Given the description of an element on the screen output the (x, y) to click on. 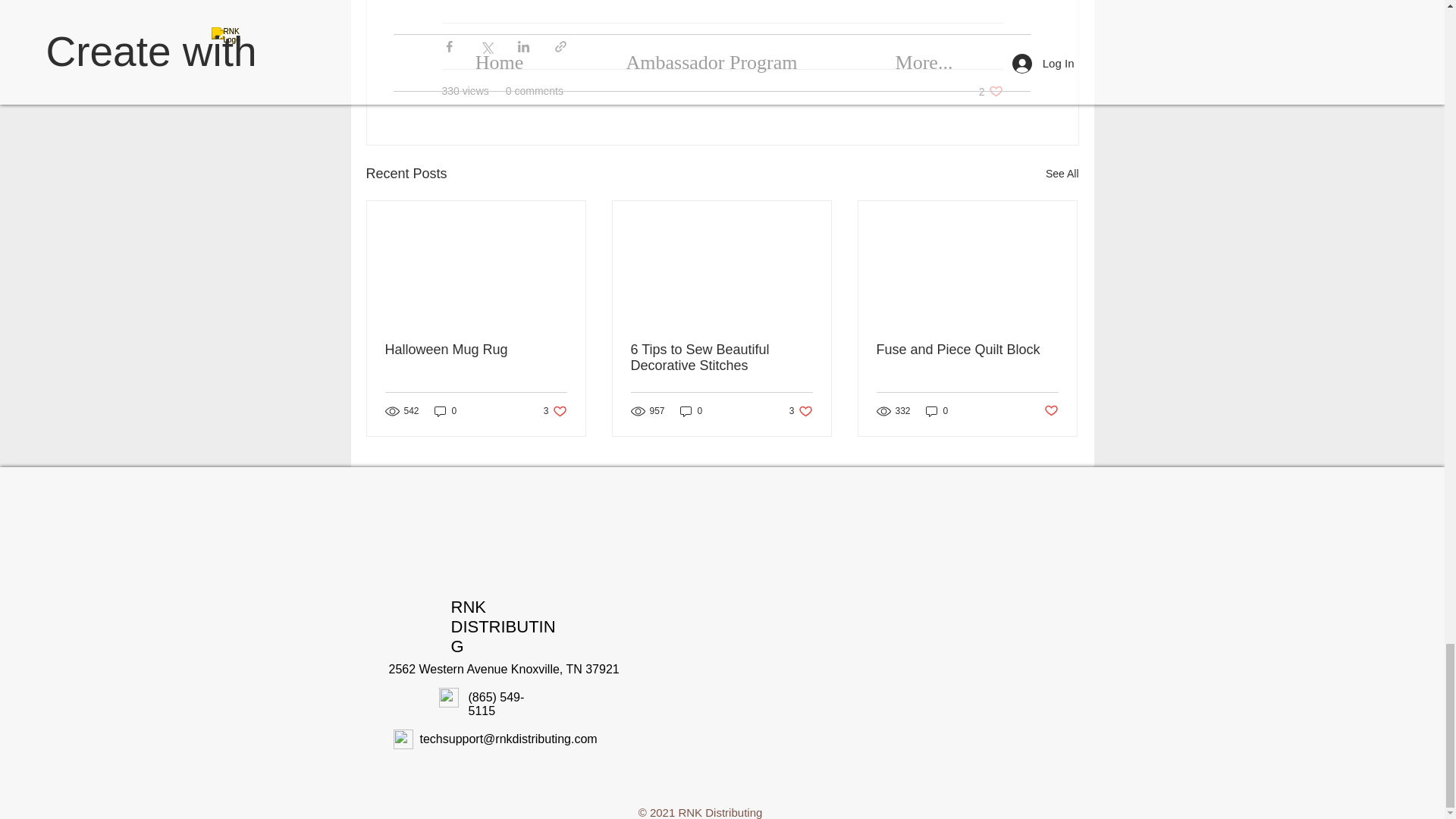
Post not marked as liked (800, 411)
6 Tips to Sew Beautiful Decorative Stitches (1050, 411)
Fuse and Piece Quilt Block (555, 411)
0 (721, 357)
0 (967, 349)
See All (990, 91)
0 (937, 411)
